Given the description of an element on the screen output the (x, y) to click on. 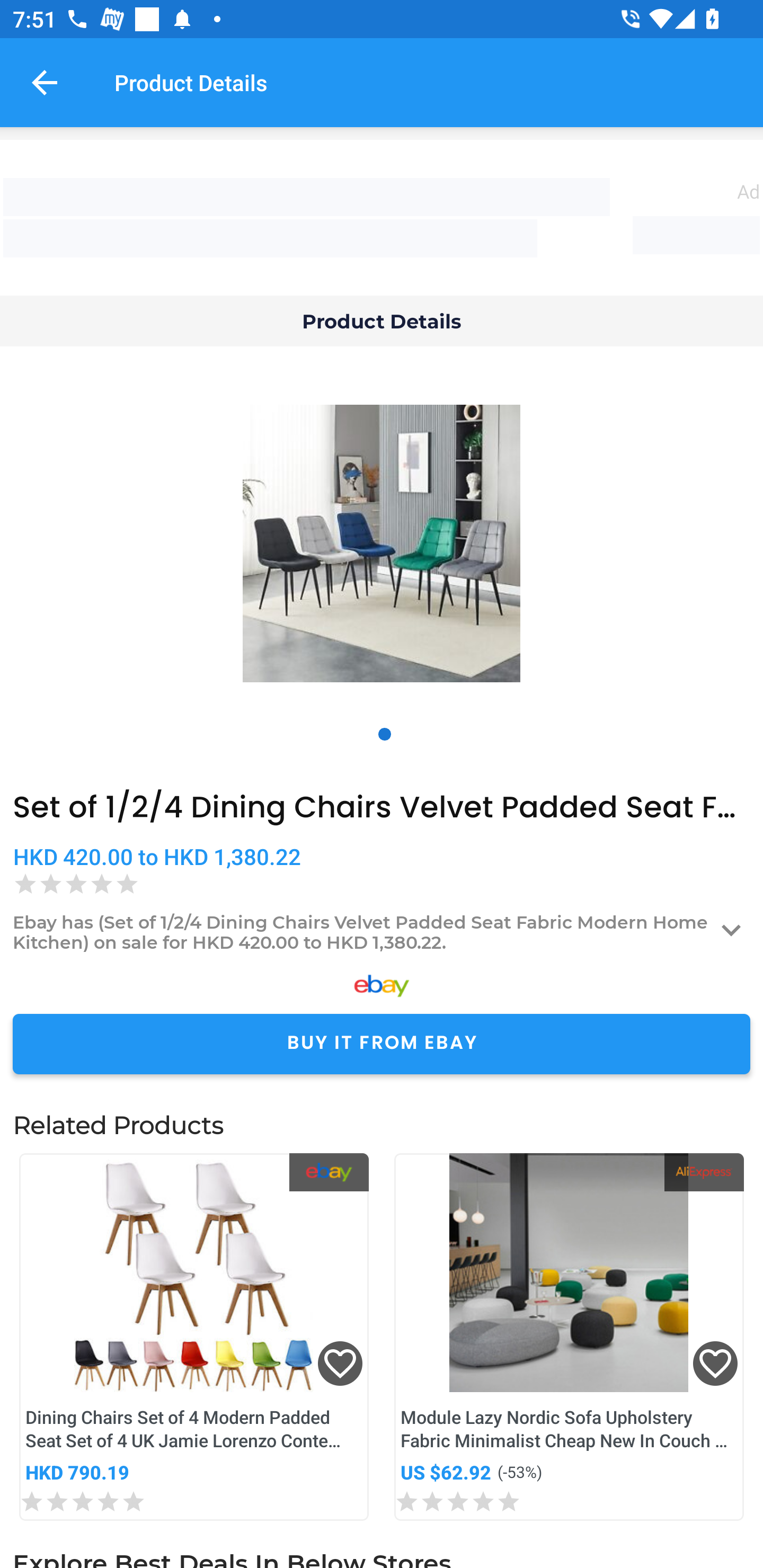
Navigate up (44, 82)
BUY IT FROM EBAY (381, 1044)
